Given the description of an element on the screen output the (x, y) to click on. 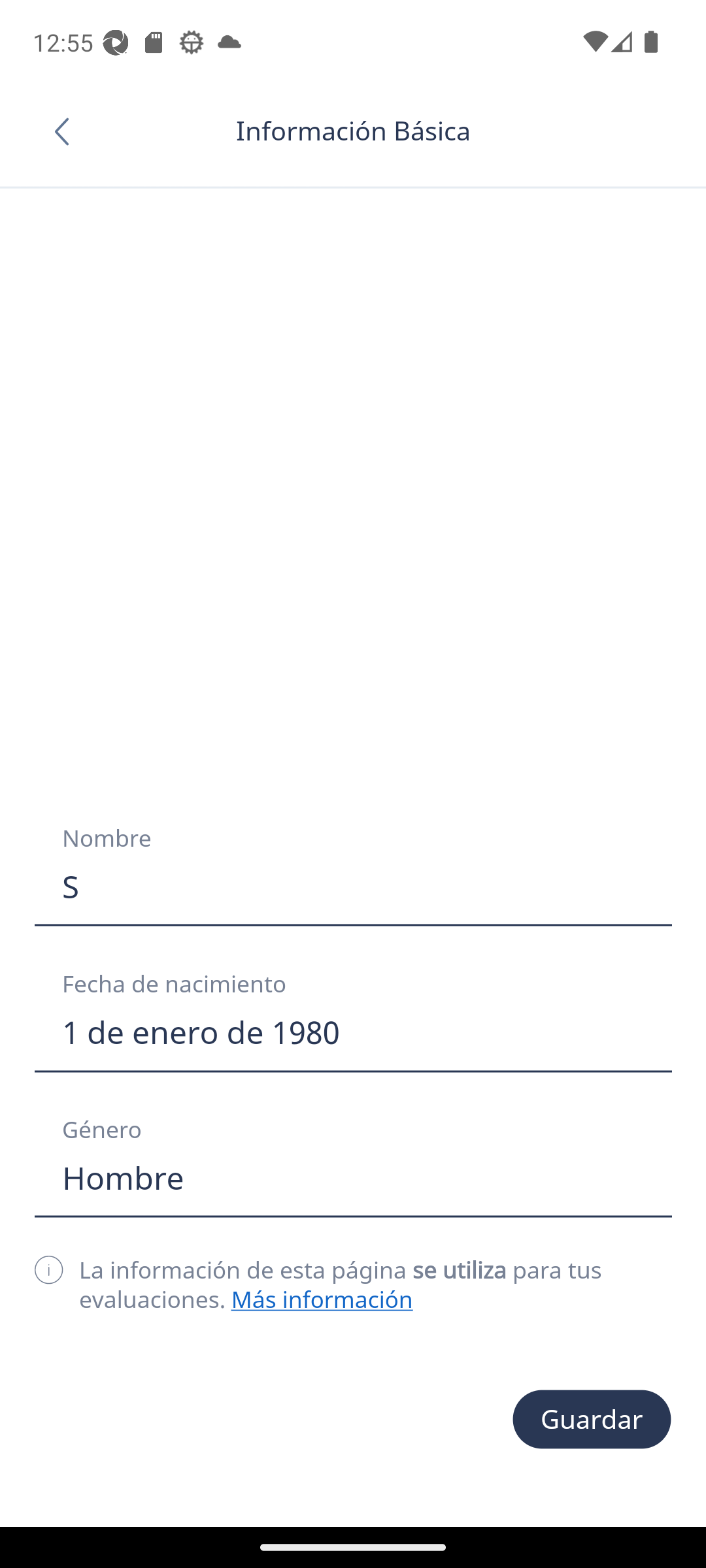
Go back, Navigates to the previous screen (68, 131)
S (353, 886)
1 de enero de 1980 (353, 1032)
Hombre (353, 1178)
Guardar (591, 1418)
